Given the description of an element on the screen output the (x, y) to click on. 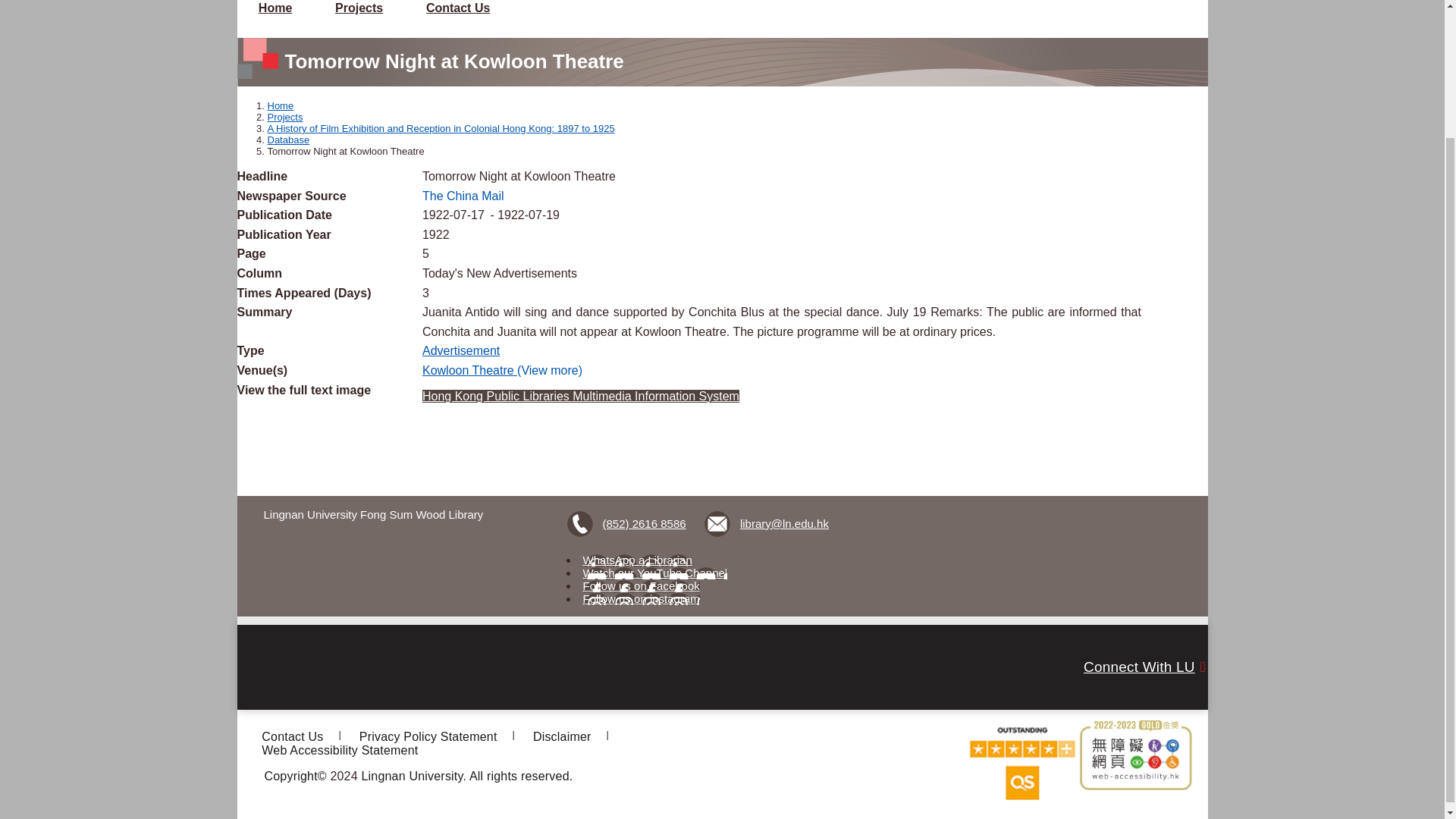
Follow us on Facebook (641, 585)
Email (766, 524)
WhatsApp a Librarian (638, 559)
Watch our YouTube Channel (655, 572)
Follow us on instagram (641, 598)
Kowloon Theatre (469, 369)
Phone Number (629, 524)
